Given the description of an element on the screen output the (x, y) to click on. 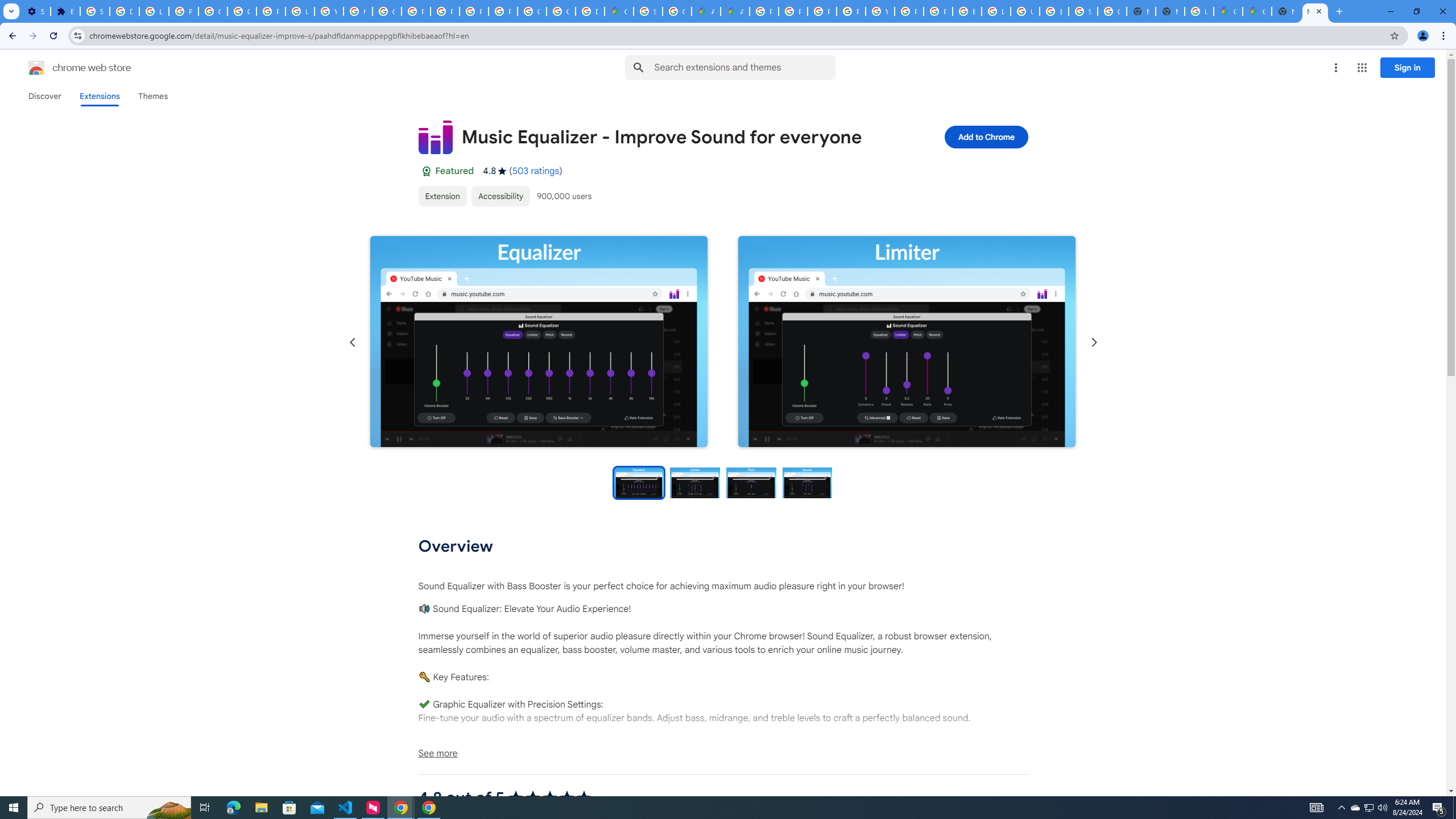
Themes (152, 95)
Add to Chrome (985, 136)
See more (722, 753)
Chrome Web Store logo (36, 67)
Item media 2 screenshot (906, 341)
YouTube (327, 11)
Privacy Help Center - Policies Help (415, 11)
Policy Accountability and Transparency - Transparency Center (763, 11)
